Given the description of an element on the screen output the (x, y) to click on. 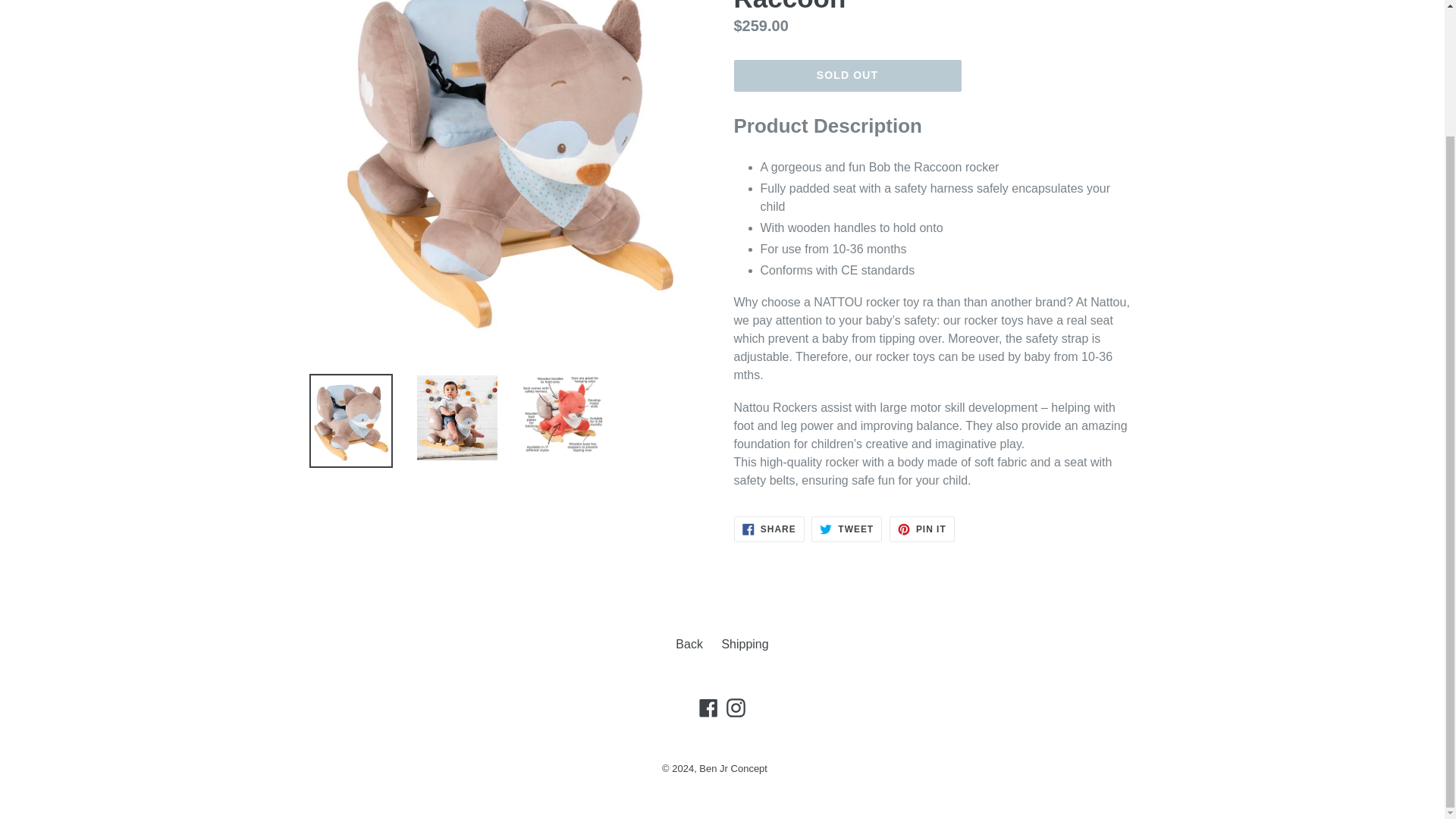
Tweet on Twitter (846, 529)
SOLD OUT (846, 529)
Pin on Pinterest (846, 75)
Share on Facebook (922, 529)
Ben Jr Concept (769, 529)
Ben Jr Concept on Instagram (732, 767)
Facebook (769, 529)
Shipping (735, 706)
Instagram (708, 706)
Ben Jr Concept on Facebook (922, 529)
Back (744, 644)
